Given the description of an element on the screen output the (x, y) to click on. 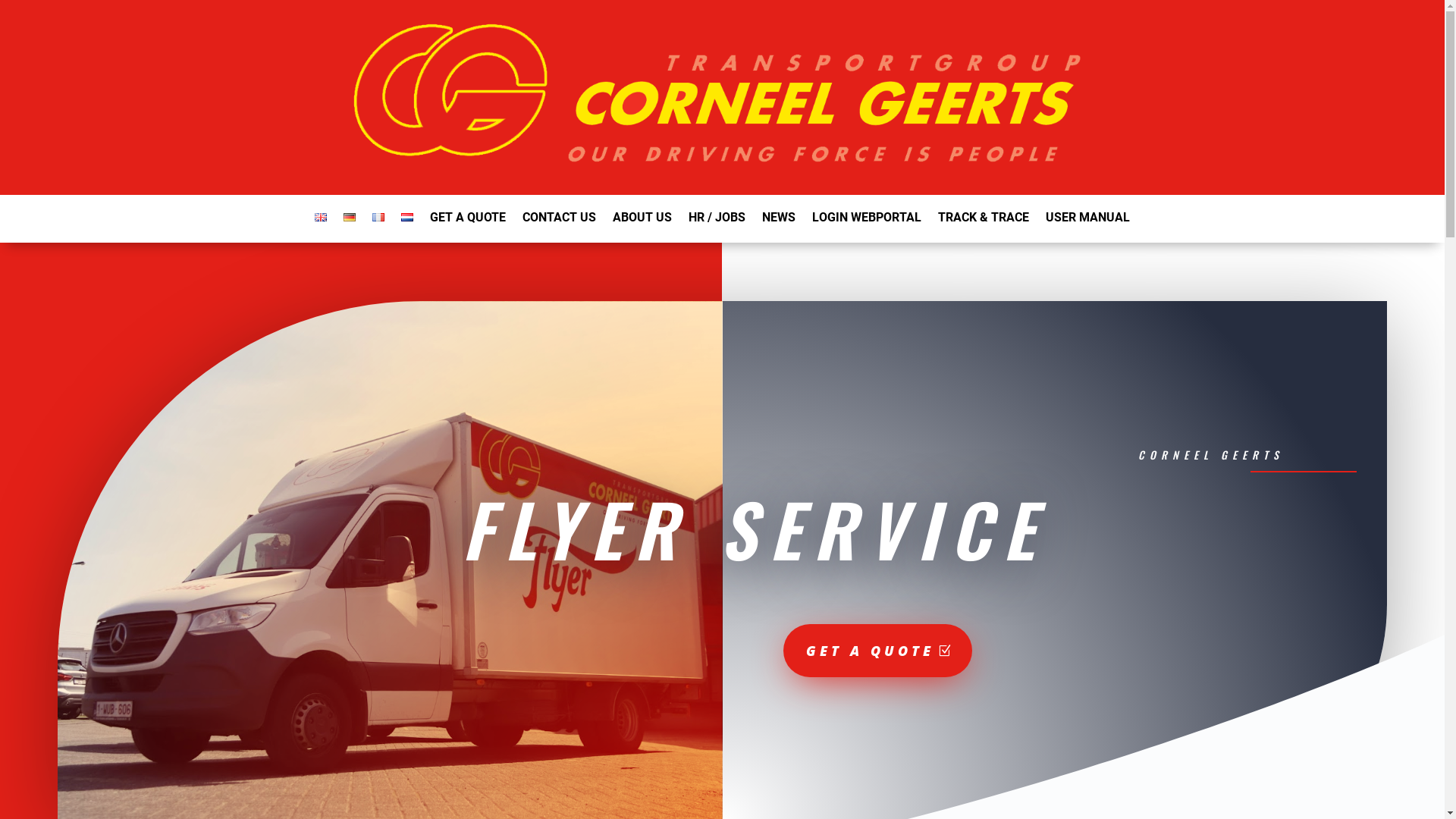
USER MANUAL Element type: text (1087, 220)
NEWS Element type: text (778, 220)
TRACK & TRACE Element type: text (983, 220)
CONTACT US Element type: text (559, 220)
GET A QUOTE Element type: text (467, 220)
HR / JOBS Element type: text (716, 220)
Nederlands Element type: hover (407, 217)
LOGIN WEBPORTAL Element type: text (866, 220)
GET A QUOTE Element type: text (876, 650)
Corneel Geerts Logo Element type: hover (721, 99)
English Element type: hover (320, 217)
ABOUT US Element type: text (641, 220)
Deutsch Element type: hover (349, 217)
